Given the description of an element on the screen output the (x, y) to click on. 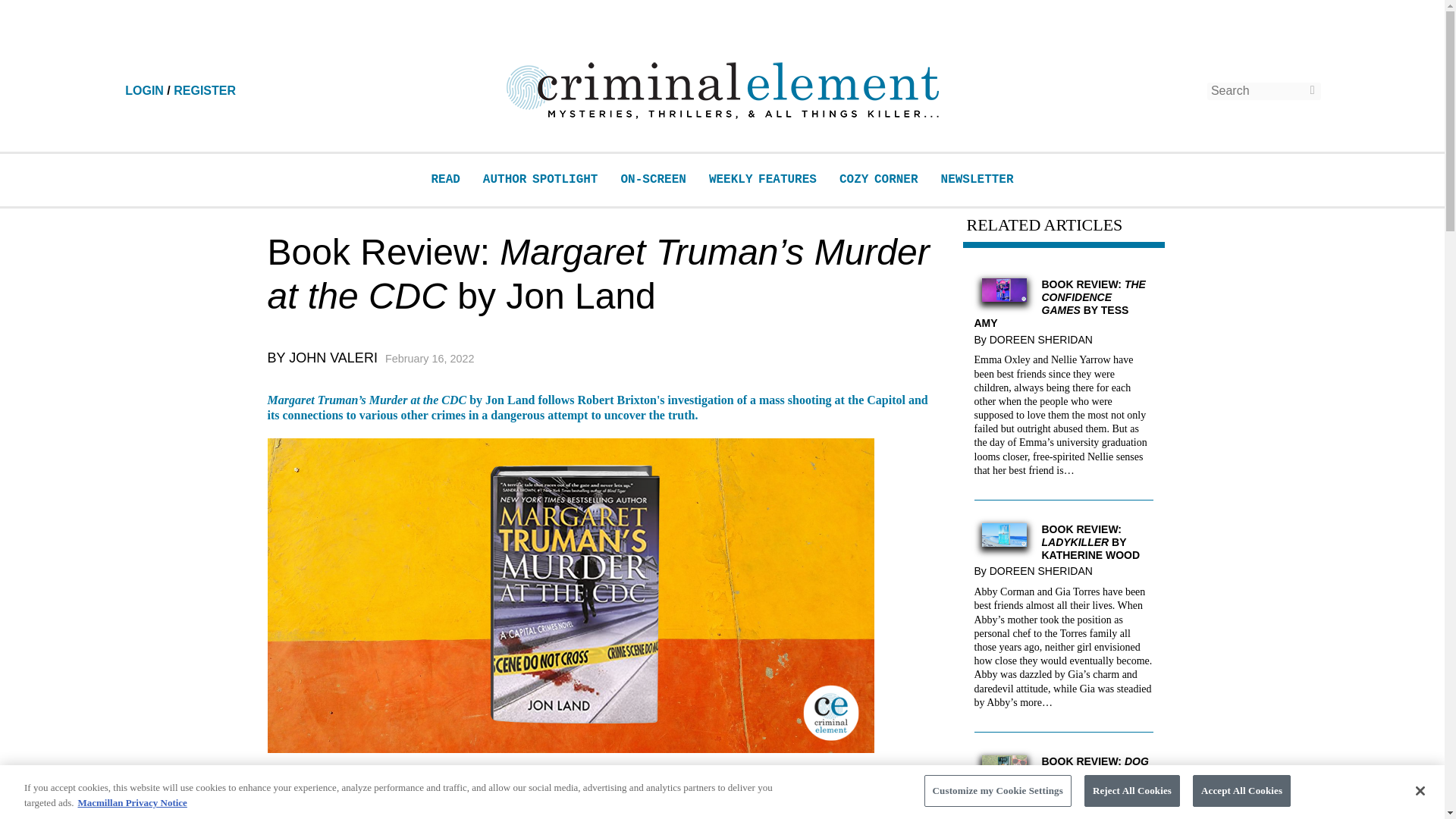
READ (445, 179)
WEEKLY FEATURES (762, 179)
JOHN VALERI (332, 357)
COZY CORNER (879, 179)
REGISTER (204, 90)
LOGIN (144, 90)
AUTHOR SPOTLIGHT (540, 179)
John Valeri (332, 357)
NEWSLETTER (976, 179)
